Given the description of an element on the screen output the (x, y) to click on. 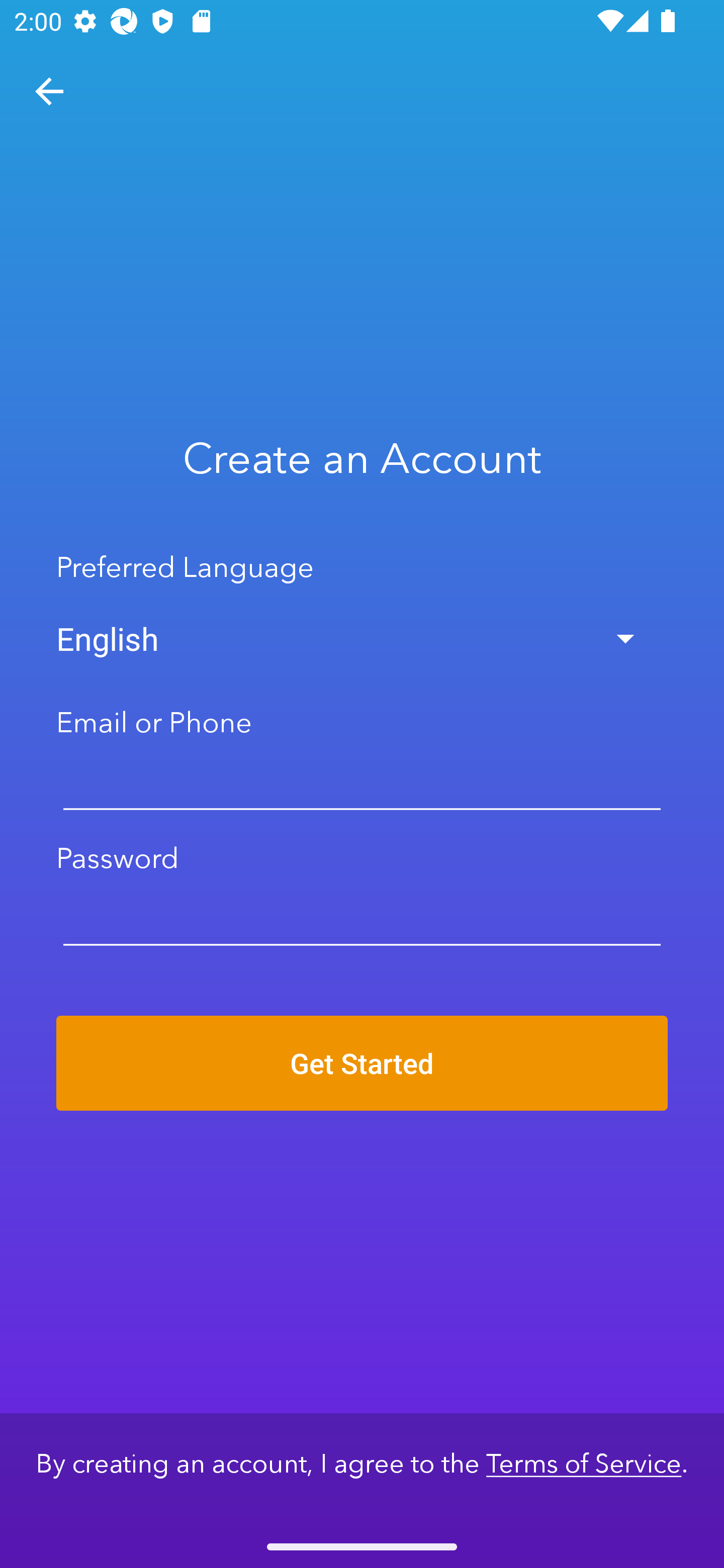
Navigate up (49, 91)
English (361, 638)
Get Started (361, 1063)
